Given the description of an element on the screen output the (x, y) to click on. 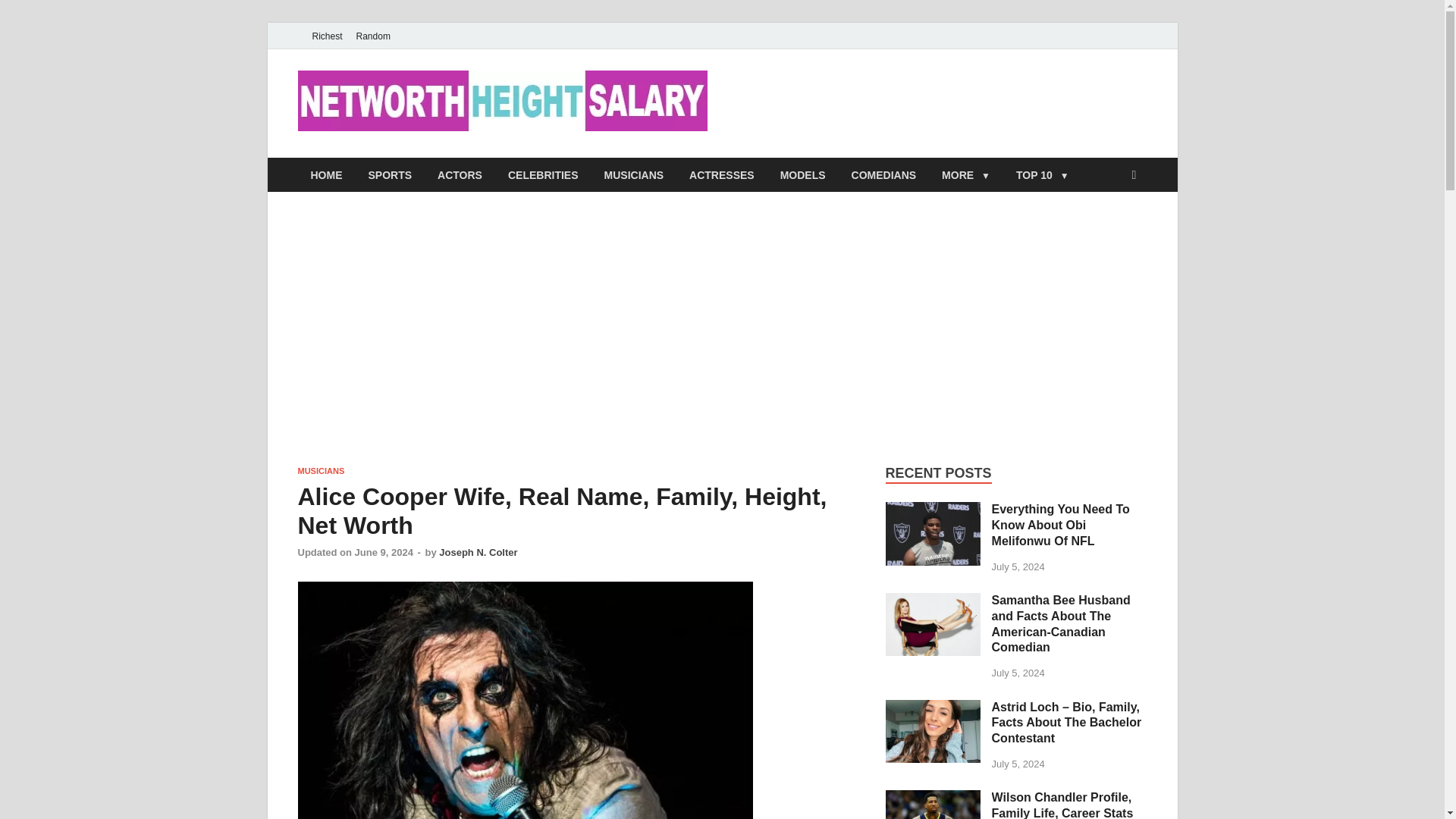
MODELS (802, 174)
HOME (326, 174)
Everything You Need To Know About Obi Melifonwu Of NFL (932, 510)
ACTRESSES (722, 174)
ACTORS (460, 174)
COMEDIANS (884, 174)
Networth Height Salary (869, 100)
Random (373, 35)
SPORTS (390, 174)
CELEBRITIES (543, 174)
MUSICIANS (634, 174)
MORE (965, 174)
TOP 10 (1042, 174)
